Given the description of an element on the screen output the (x, y) to click on. 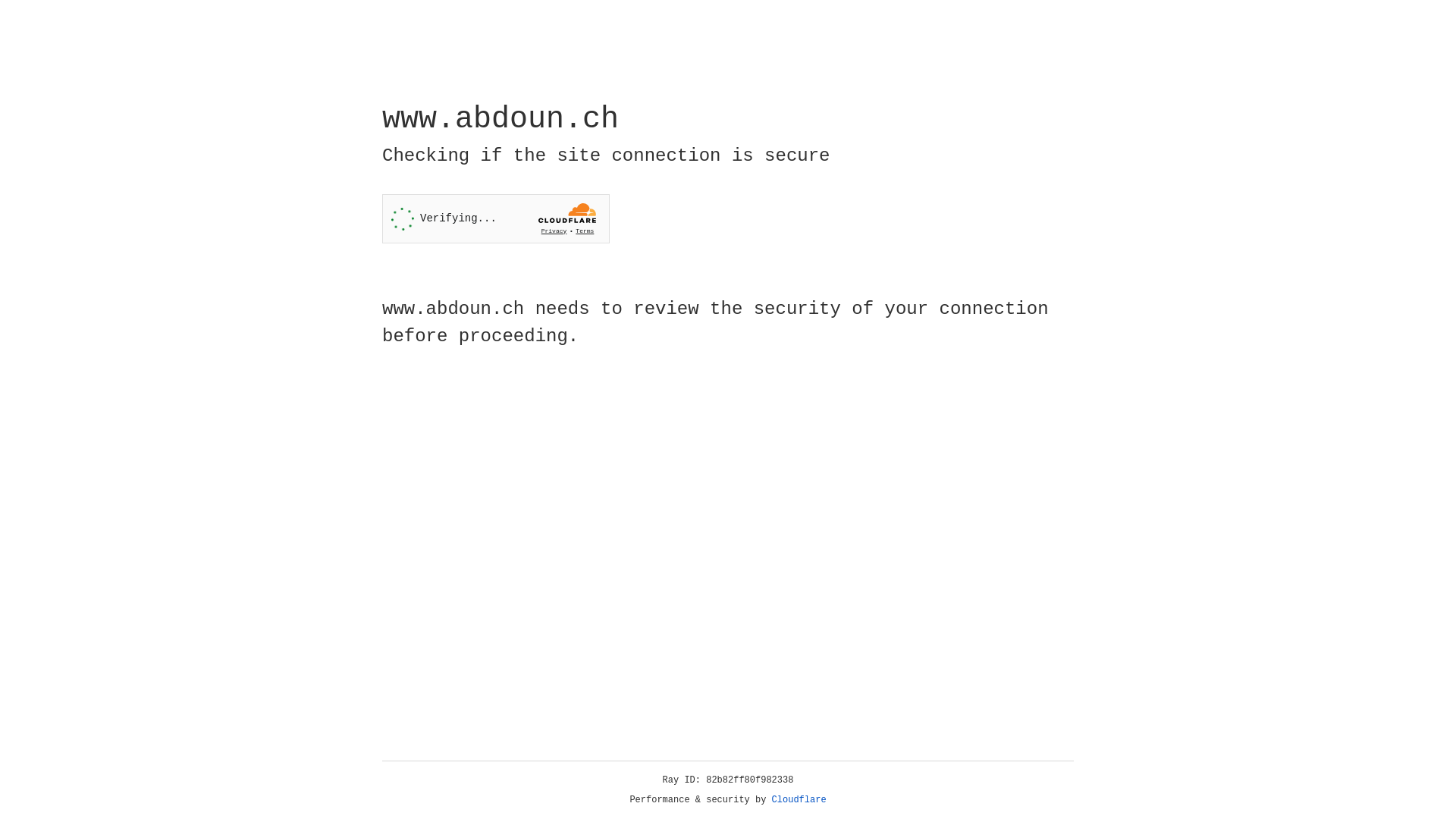
Widget containing a Cloudflare security challenge Element type: hover (495, 218)
Cloudflare Element type: text (798, 799)
